Given the description of an element on the screen output the (x, y) to click on. 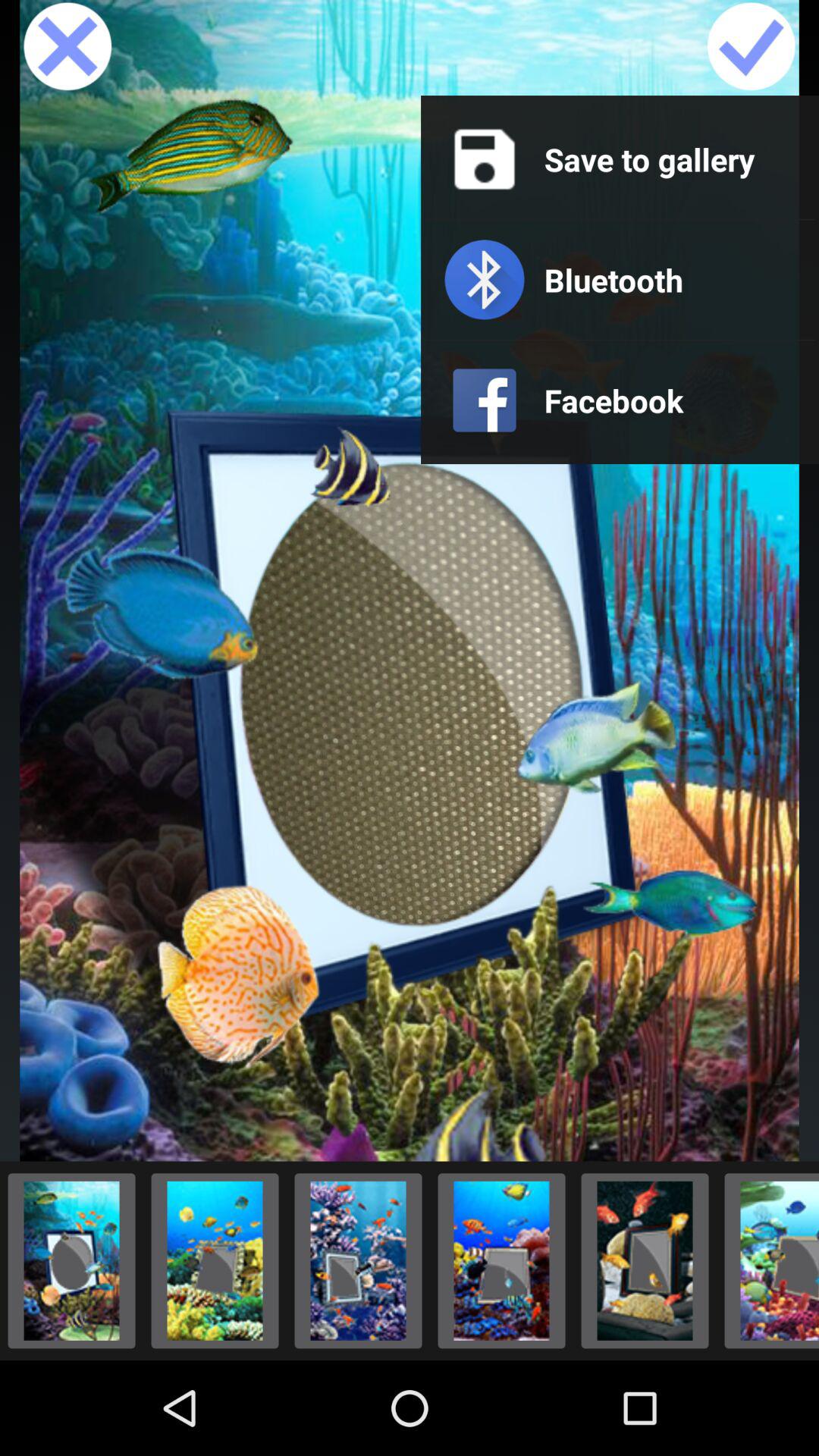
image with speaker placed in saltwater coral (767, 1260)
